Given the description of an element on the screen output the (x, y) to click on. 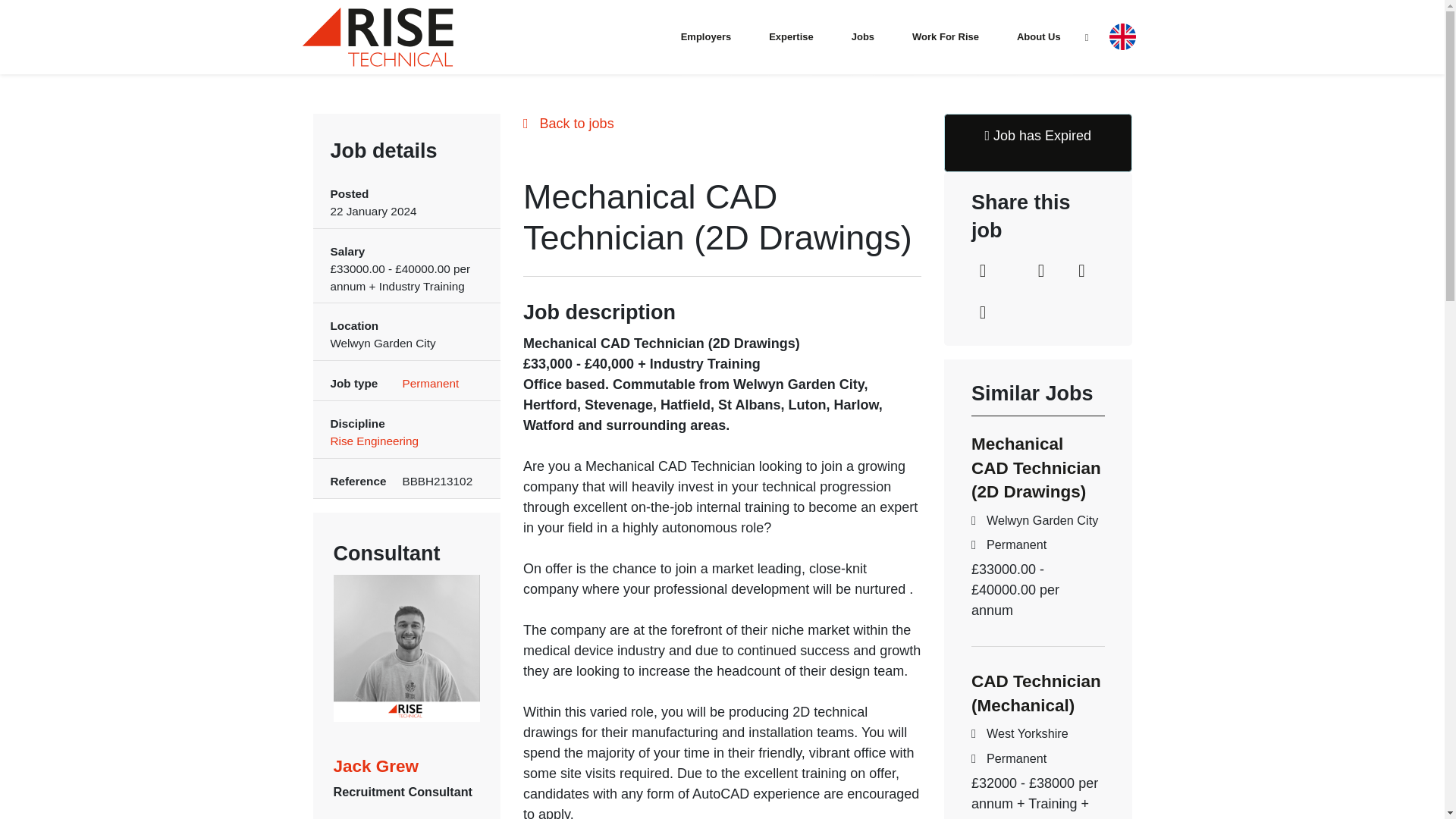
Rise Technical Recruitment Ltd (376, 36)
Work For Rise (945, 36)
Employers (705, 36)
Expertise (791, 36)
Jobs (862, 36)
About Us (1038, 36)
